Given the description of an element on the screen output the (x, y) to click on. 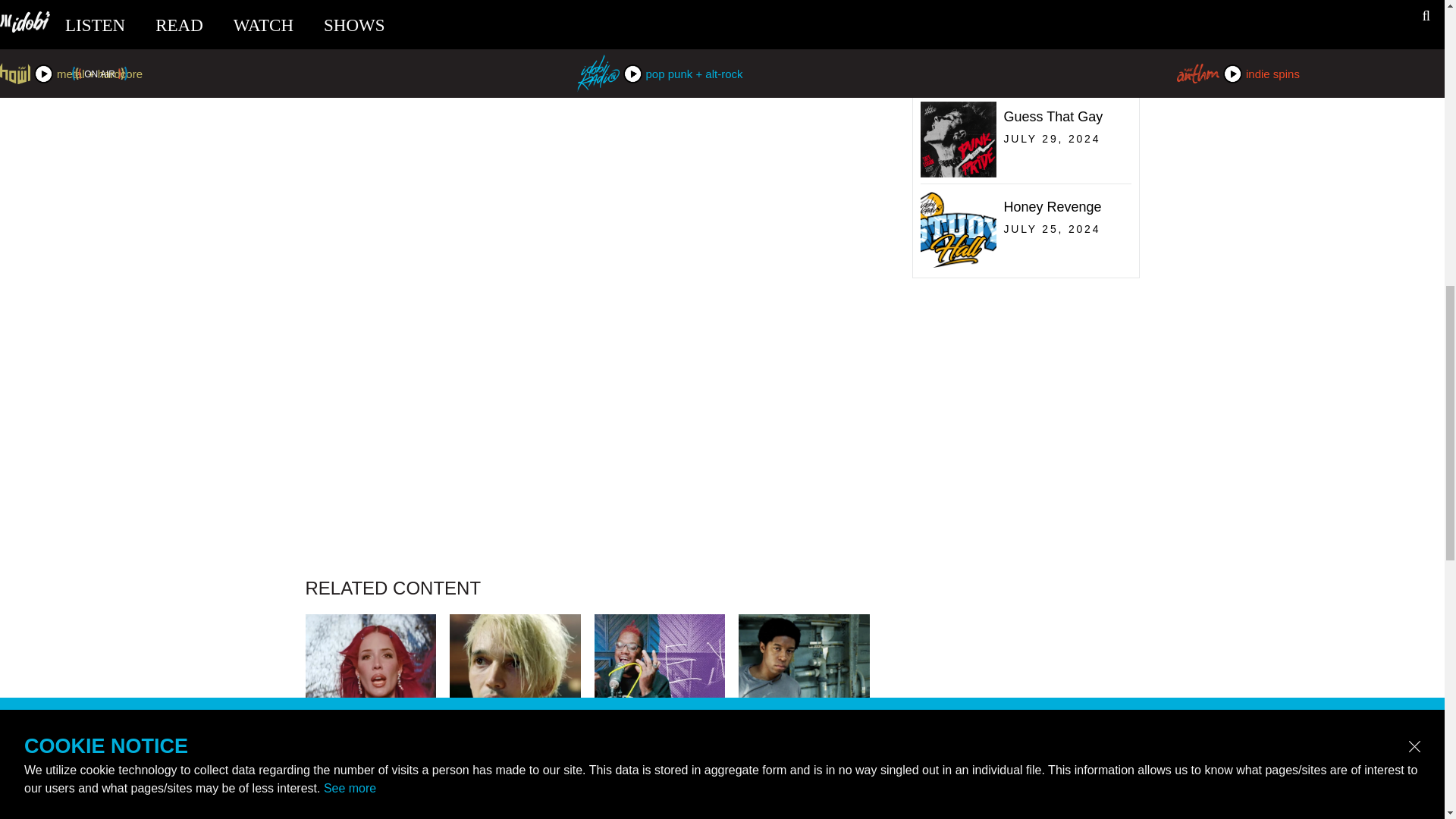
NEWS (803, 786)
NEWS (659, 786)
NEWS (1022, 82)
NEWS (369, 786)
